Given the description of an element on the screen output the (x, y) to click on. 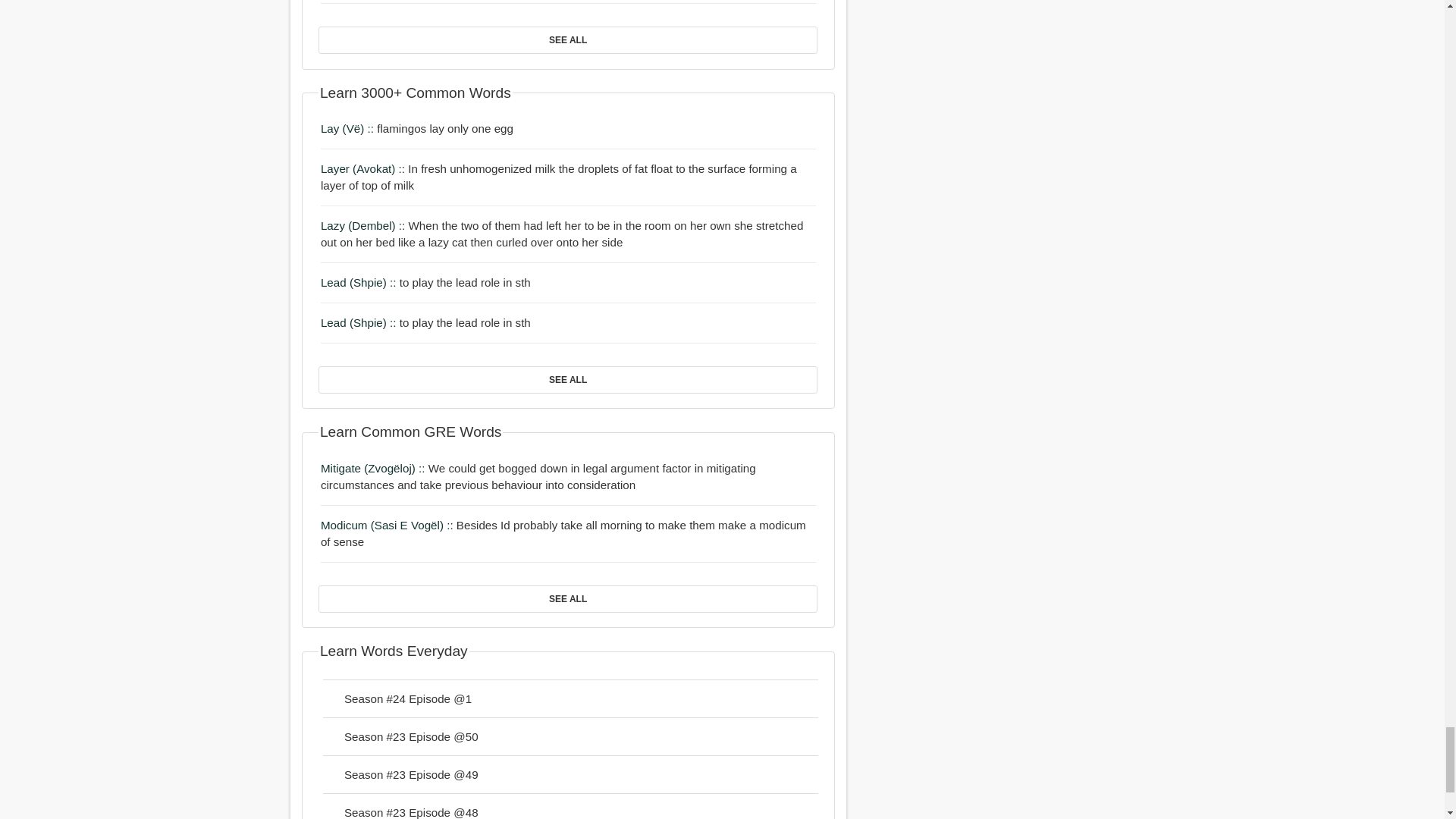
SEE ALL (567, 40)
